Given the description of an element on the screen output the (x, y) to click on. 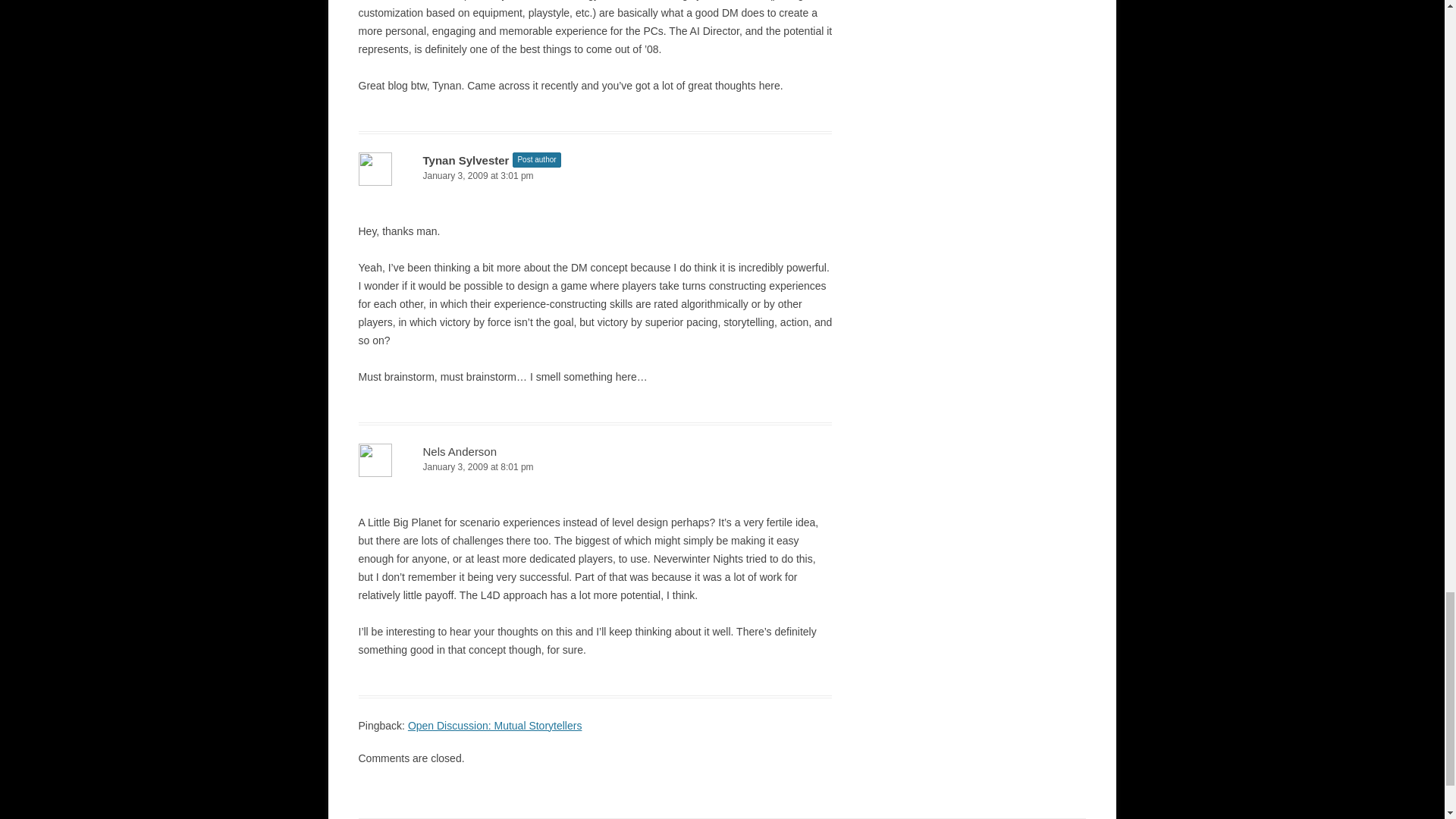
Nels Anderson (460, 451)
Tynan Sylvester (466, 160)
January 3, 2009 at 8:01 pm (594, 467)
Open Discussion: Mutual Storytellers (494, 725)
January 3, 2009 at 3:01 pm (594, 176)
